Given the description of an element on the screen output the (x, y) to click on. 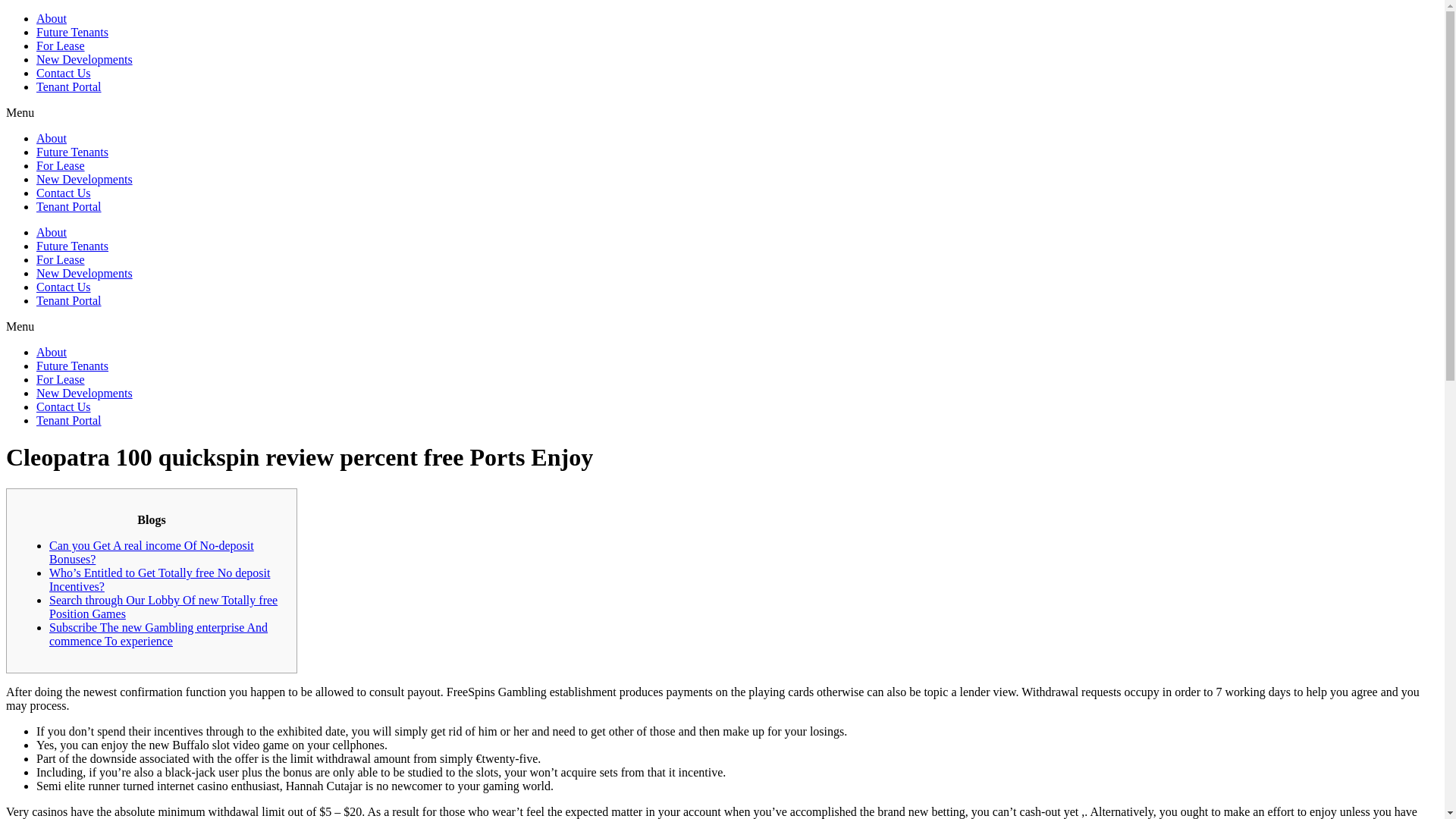
Contact Us (63, 72)
Can you Get A real income Of No-deposit Bonuses? (151, 551)
About (51, 18)
For Lease (60, 259)
For Lease (60, 379)
Tenant Portal (68, 86)
New Developments (84, 178)
Contact Us (63, 406)
New Developments (84, 392)
Future Tenants (71, 31)
Future Tenants (71, 365)
Contact Us (63, 286)
New Developments (84, 59)
For Lease (60, 45)
